Given the description of an element on the screen output the (x, y) to click on. 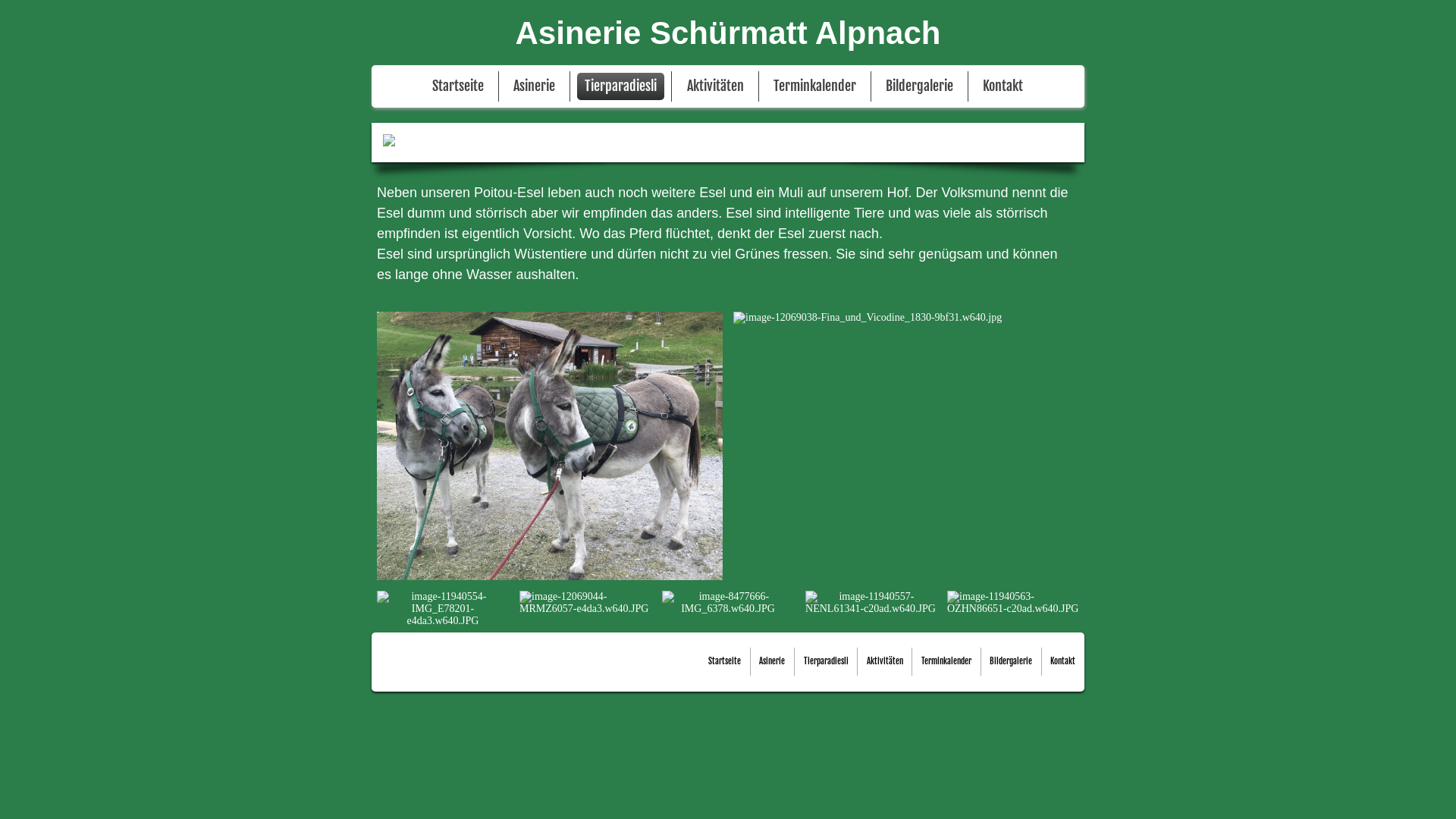
Tierparadiesli Element type: text (620, 86)
Kontakt Element type: text (1062, 661)
Kontakt Element type: text (1002, 86)
Bildergalerie Element type: text (919, 86)
Asinerie Element type: text (771, 661)
Asinerie Element type: text (533, 86)
Tierparadiesli Element type: text (826, 661)
Terminkalender Element type: text (945, 661)
Bildergalerie Element type: text (1010, 661)
Terminkalender Element type: text (814, 86)
Startseite Element type: text (724, 661)
Startseite Element type: text (457, 86)
